Given the description of an element on the screen output the (x, y) to click on. 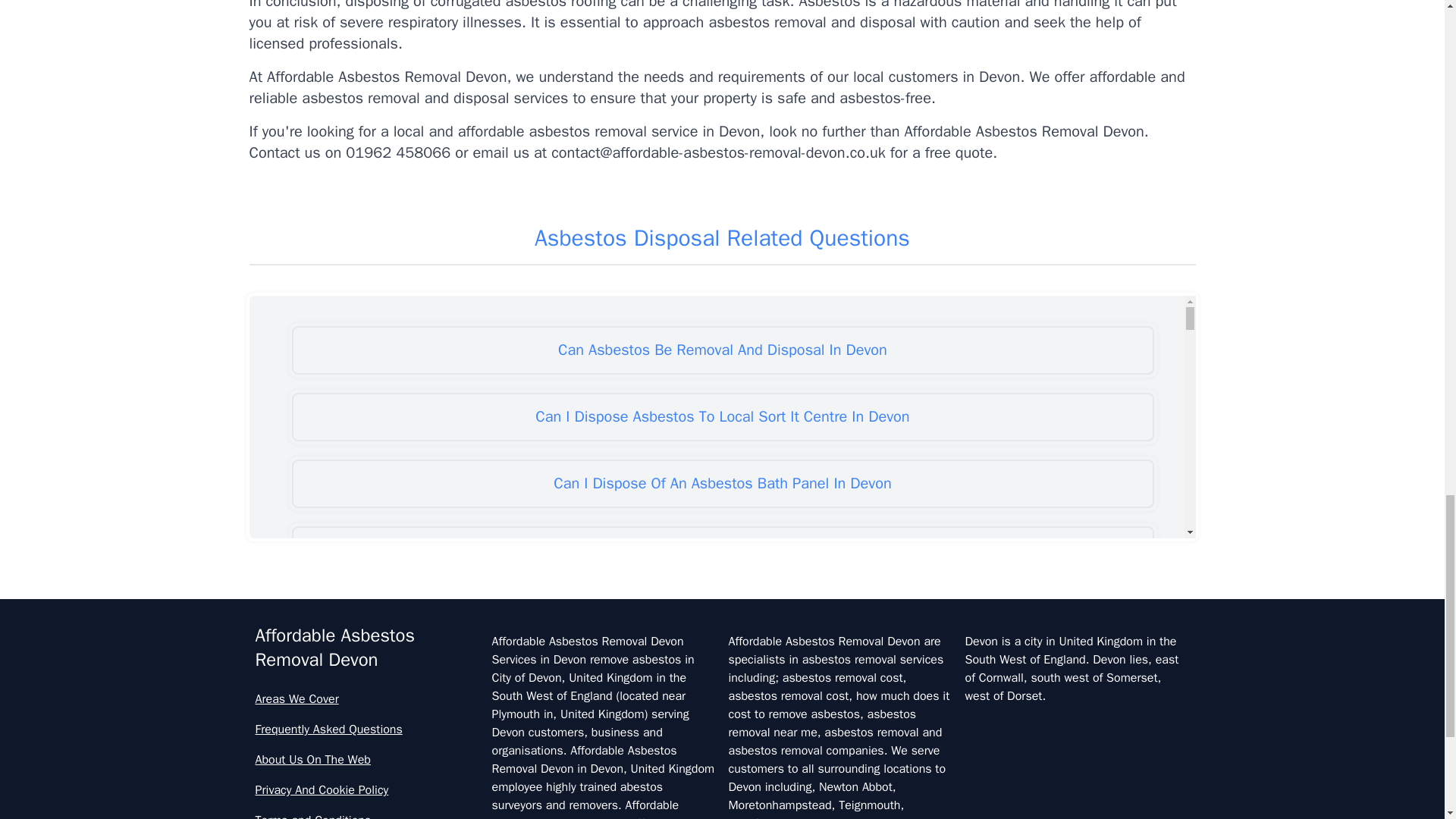
Can I Dispose Of An Asbestos Bath Panel In Devon (722, 483)
Can I Dispose Of Asbestos Myself In Devon (722, 684)
Can You Dispose Asbestos For Free In Devon (722, 806)
Can I Dispose Of Asbestos In Devon (722, 616)
Can Asbestos Be Removal And Disposal In Devon (722, 349)
Can The Council Dispose Of Asbestos In Devon (722, 750)
Can I Dispose Of Asbestos At My Local Tip In Devon (722, 550)
Can I Dispose Asbestos To Local Sort It Centre In Devon (722, 417)
